Given the description of an element on the screen output the (x, y) to click on. 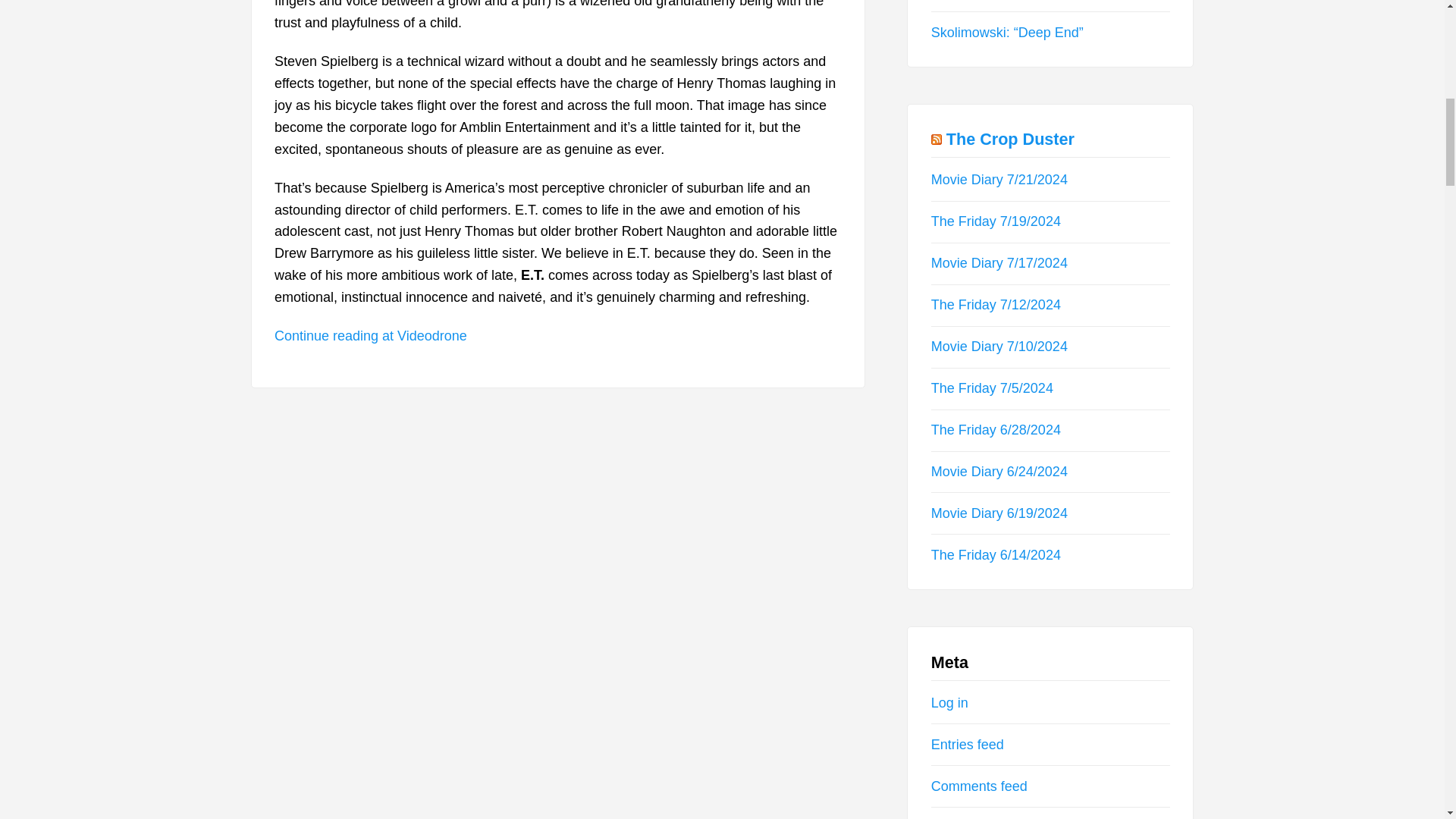
Continue reading at Videodrone (371, 335)
The Crop Duster (1010, 138)
